Given the description of an element on the screen output the (x, y) to click on. 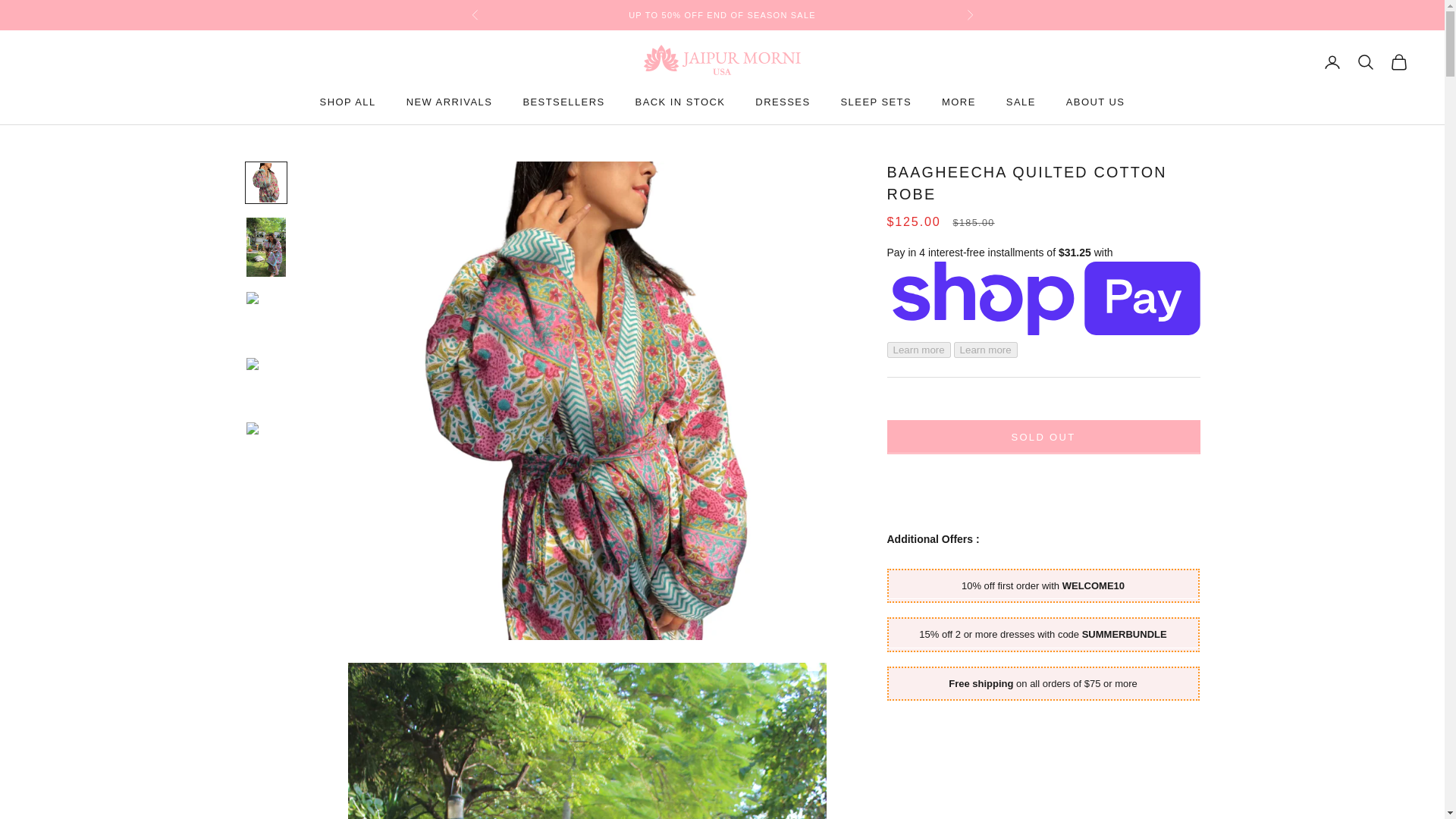
Open cart (1398, 62)
Jaipur Morni USA (721, 61)
DRESSES (782, 102)
Open search (1365, 62)
BESTSELLERS (563, 102)
SHOP ALL (347, 102)
Open account page (1331, 62)
SLEEP SETS (876, 102)
NEW ARRIVALS (449, 102)
BACK IN STOCK (679, 102)
